Given the description of an element on the screen output the (x, y) to click on. 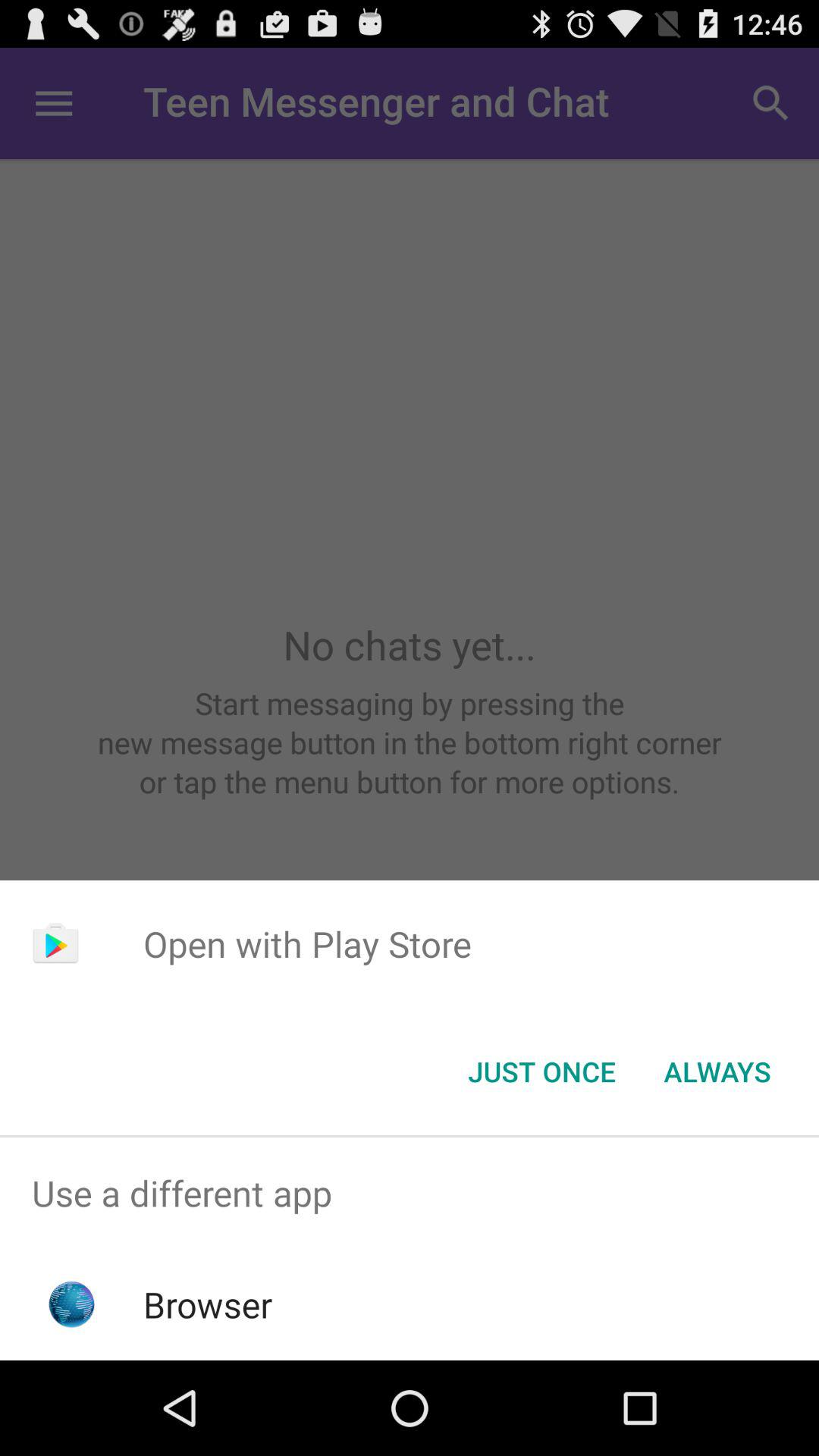
tap item next to just once button (717, 1071)
